Given the description of an element on the screen output the (x, y) to click on. 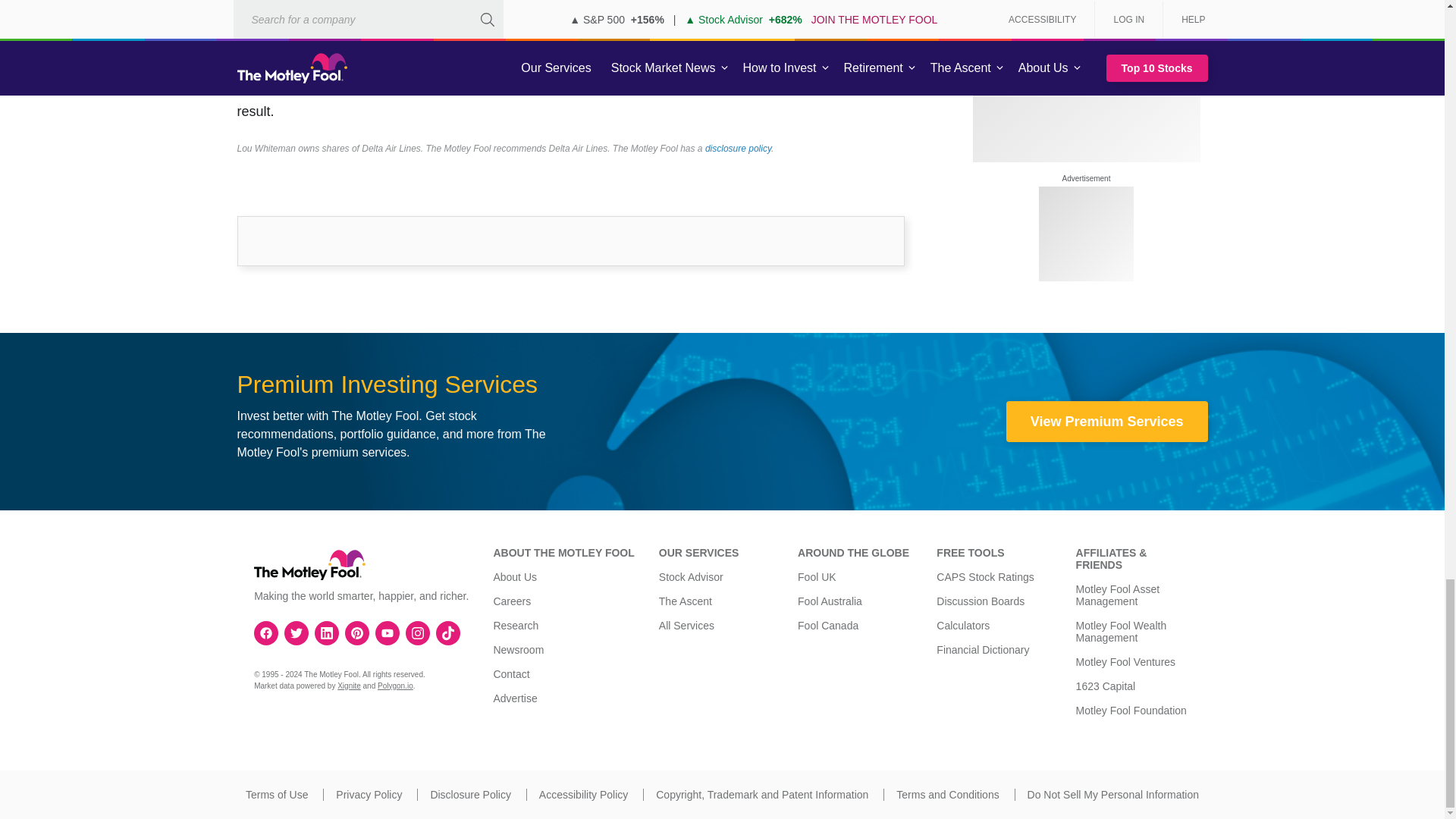
Copyright, Trademark and Patent Information (761, 794)
Facebook (266, 632)
Instagram (417, 632)
YouTube (387, 632)
Terms and Conditions (947, 794)
Privacy Policy (368, 794)
TikTok (448, 632)
LinkedIn (326, 632)
Terms of Use (276, 794)
Do Not Sell My Personal Information. (1112, 794)
Twitter (295, 632)
Pinterest (356, 632)
Disclosure Policy (470, 794)
Accessibility Policy (582, 794)
